Given the description of an element on the screen output the (x, y) to click on. 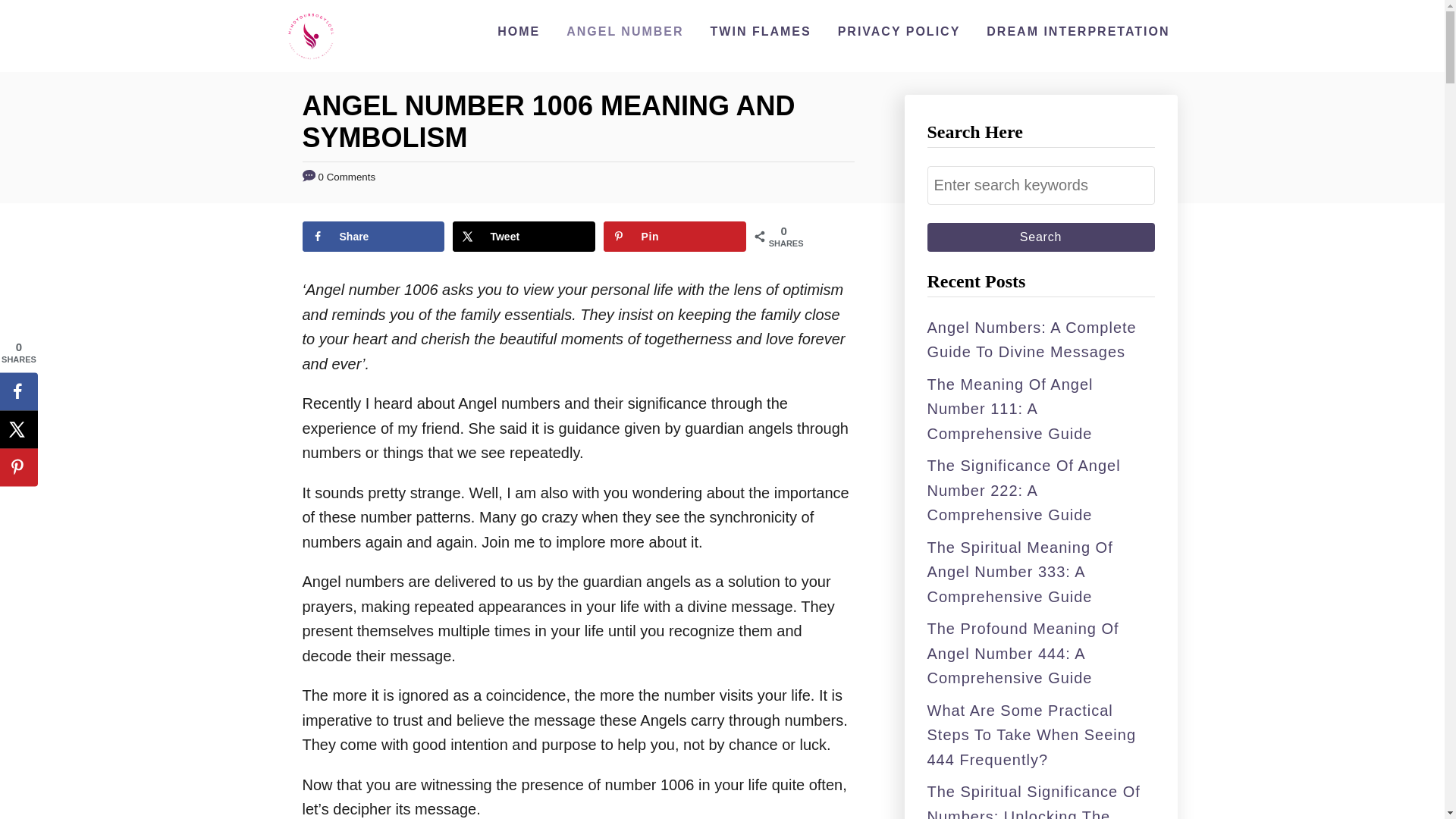
Share on Facebook (18, 391)
Tweet (523, 236)
Share on Facebook (372, 236)
Mind Your Body Soul (310, 35)
DREAM INTERPRETATION (1077, 31)
Share (372, 236)
Pin (674, 236)
TWIN FLAMES (760, 31)
The Meaning Of Angel Number 111: A Comprehensive Guide (1009, 408)
Save to Pinterest (674, 236)
Search (1040, 236)
Search for: (1040, 185)
PRIVACY POLICY (898, 31)
